Given the description of an element on the screen output the (x, y) to click on. 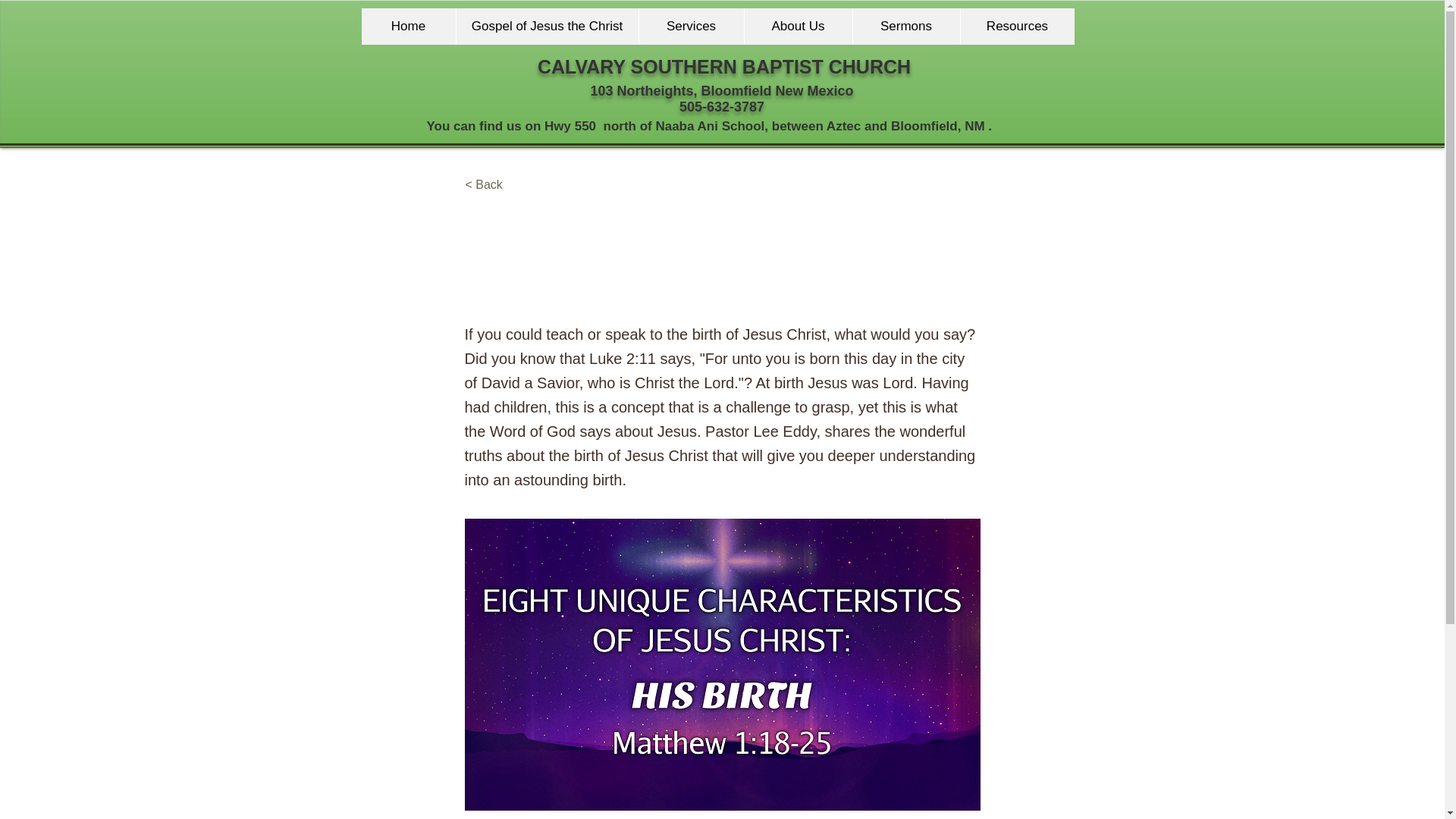
About Us (796, 26)
Resources (1016, 26)
Gospel of Jesus the Christ (545, 26)
Services (691, 26)
Home (407, 26)
Sermons (905, 26)
